Given the description of an element on the screen output the (x, y) to click on. 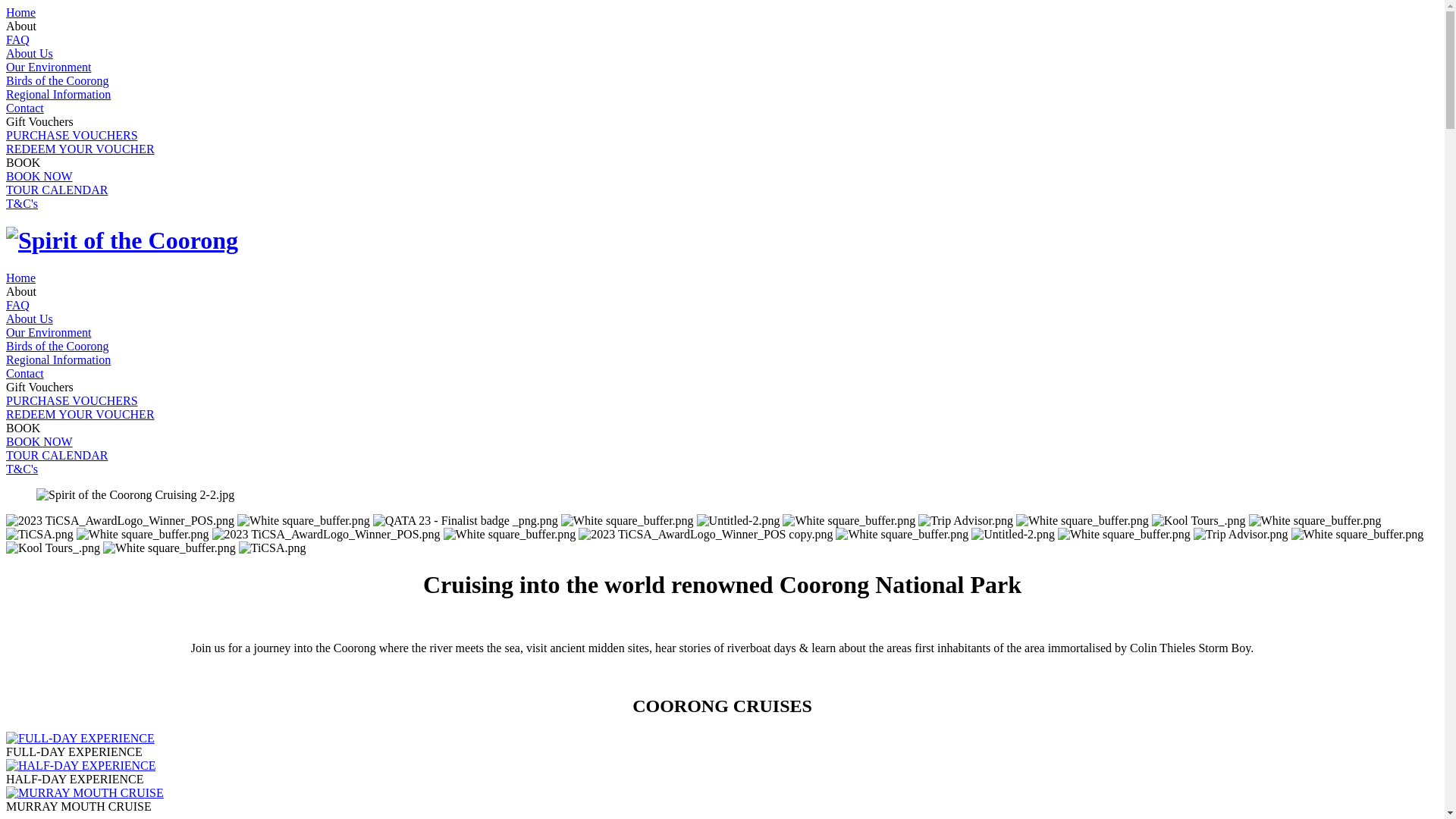
REDEEM YOUR VOUCHER Element type: text (80, 148)
T&C's Element type: text (21, 203)
Contact Element type: text (24, 107)
Birds of the Coorong Element type: text (57, 345)
Regional Information Element type: text (58, 359)
FAQ Element type: text (17, 304)
Regional Information Element type: text (58, 93)
TOUR CALENDAR Element type: text (56, 189)
TOUR CALENDAR Element type: text (56, 454)
PURCHASE VOUCHERS Element type: text (72, 400)
BOOK NOW Element type: text (39, 441)
REDEEM YOUR VOUCHER Element type: text (80, 413)
About Us Element type: text (29, 318)
T&C's Element type: text (21, 468)
About Us Element type: text (29, 53)
Our Environment Element type: text (48, 66)
PURCHASE VOUCHERS Element type: text (72, 134)
Contact Element type: text (24, 373)
Home Element type: text (20, 12)
Birds of the Coorong Element type: text (57, 80)
Home Element type: text (20, 277)
BOOK NOW Element type: text (39, 175)
FAQ Element type: text (17, 39)
Our Environment Element type: text (48, 332)
